Given the description of an element on the screen output the (x, y) to click on. 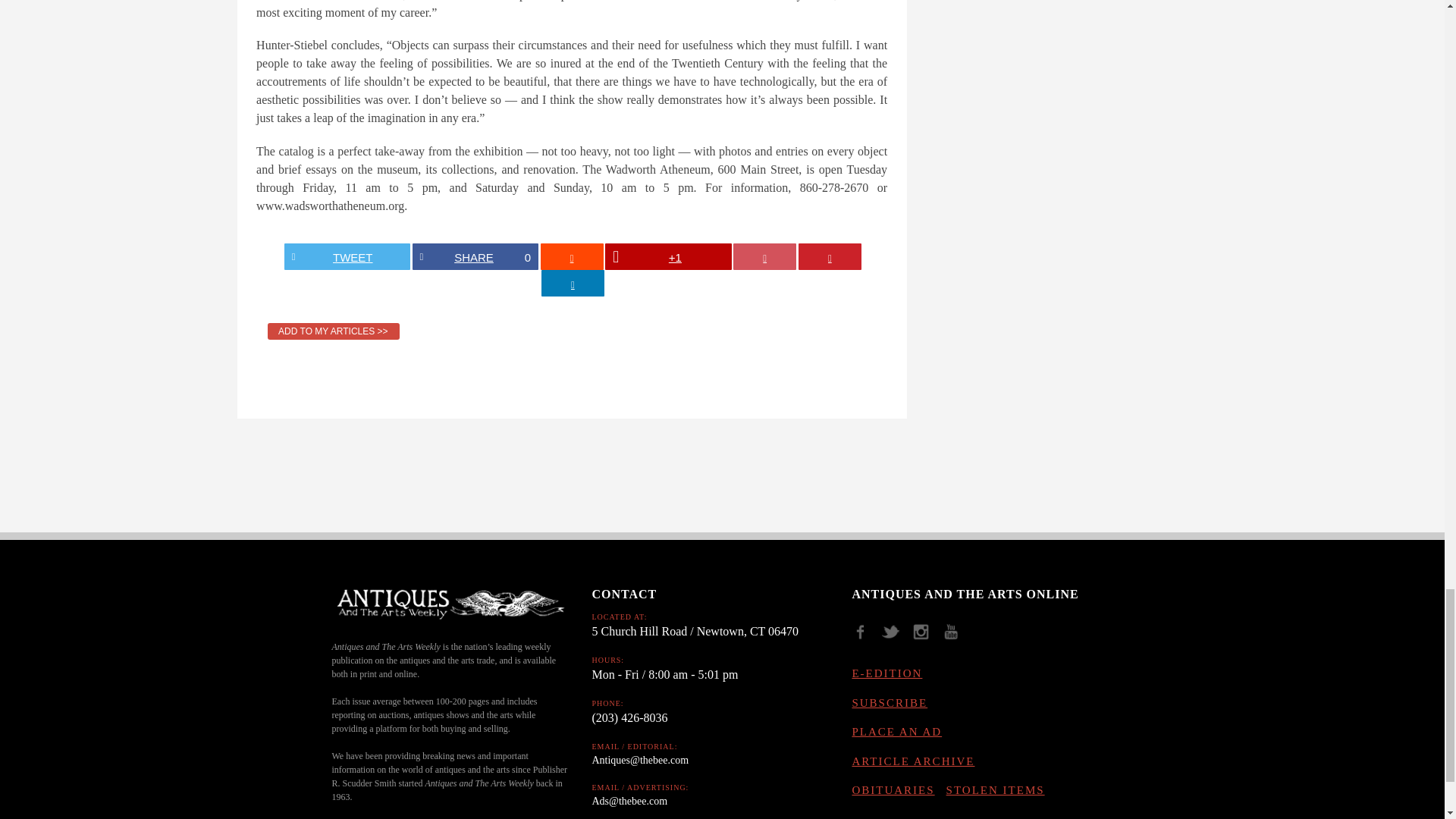
Youtube (956, 636)
Instagram (926, 636)
Facebook (865, 636)
Twitter (896, 636)
